Given the description of an element on the screen output the (x, y) to click on. 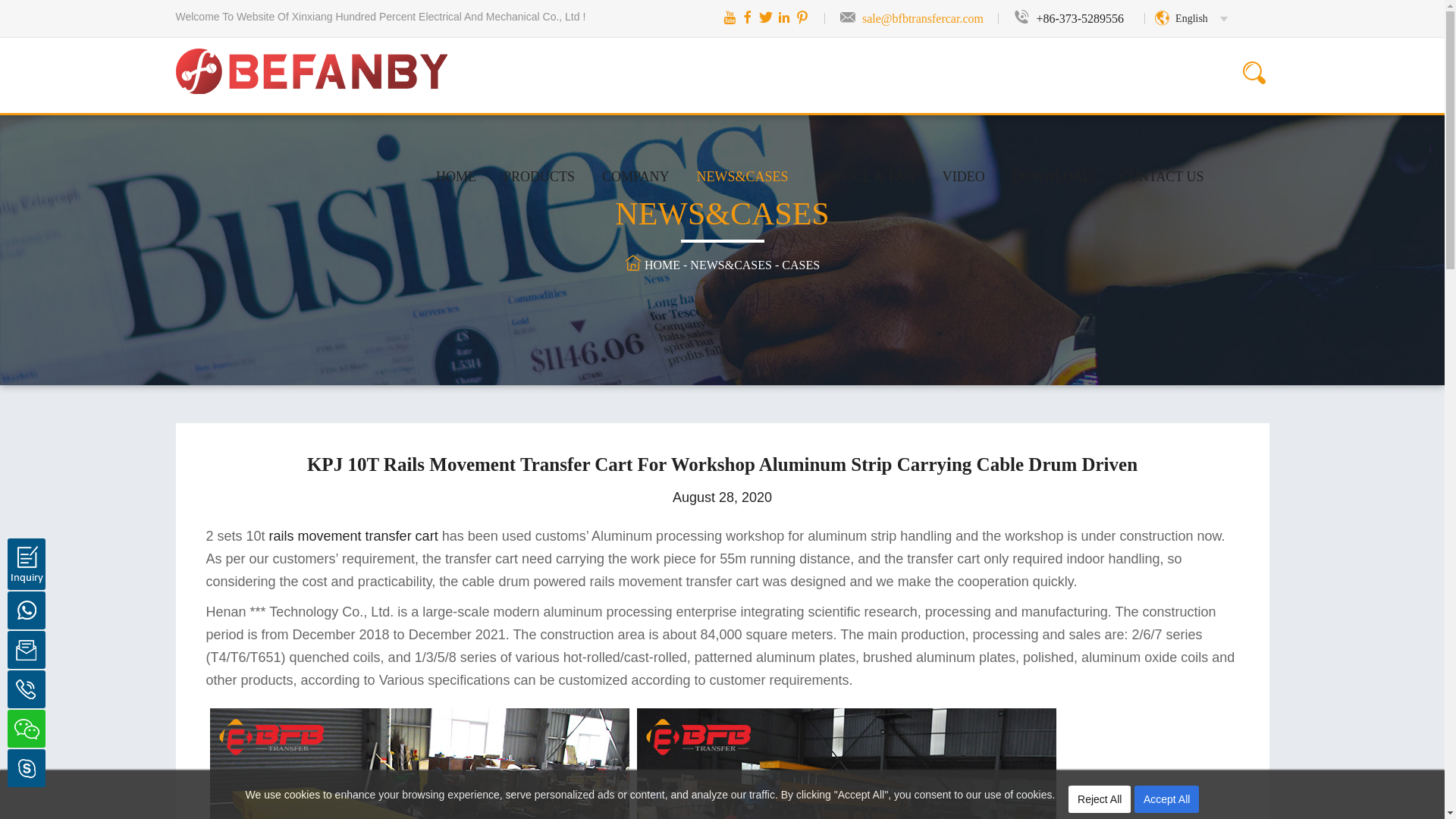
Products (538, 176)
Xinxiang Hundred Percent Electrical and Mechanical Co., Ltd. (312, 54)
youtube (729, 17)
English (1191, 18)
English (1191, 18)
PRODUCTS (538, 176)
twitter (765, 17)
linkedin (783, 17)
Home (455, 176)
pinterest (801, 17)
facebook (747, 17)
HOME (455, 176)
Accept All (1166, 799)
Reject All (1099, 799)
